Given the description of an element on the screen output the (x, y) to click on. 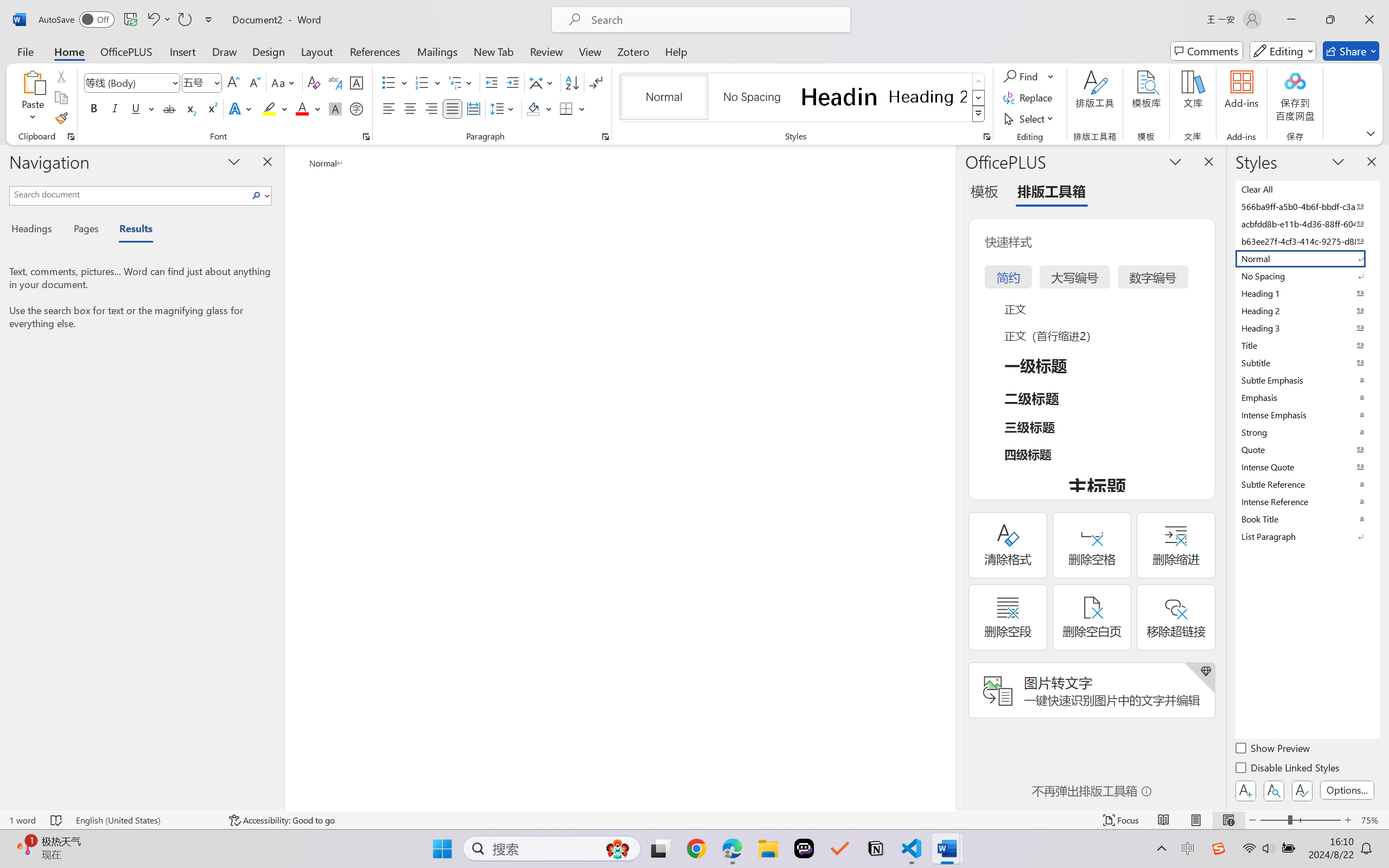
Sort... (571, 82)
Justify (452, 108)
Customize Quick Access Toolbar (208, 19)
Print Layout (1196, 819)
Undo Apply Quick Style (158, 19)
Insert (182, 51)
Heading 1 (839, 96)
acbfdd8b-e11b-4d36-88ff-6049b138f862 (1306, 223)
Task Pane Options (1175, 161)
File Tab (24, 51)
Subscript (190, 108)
